Given the description of an element on the screen output the (x, y) to click on. 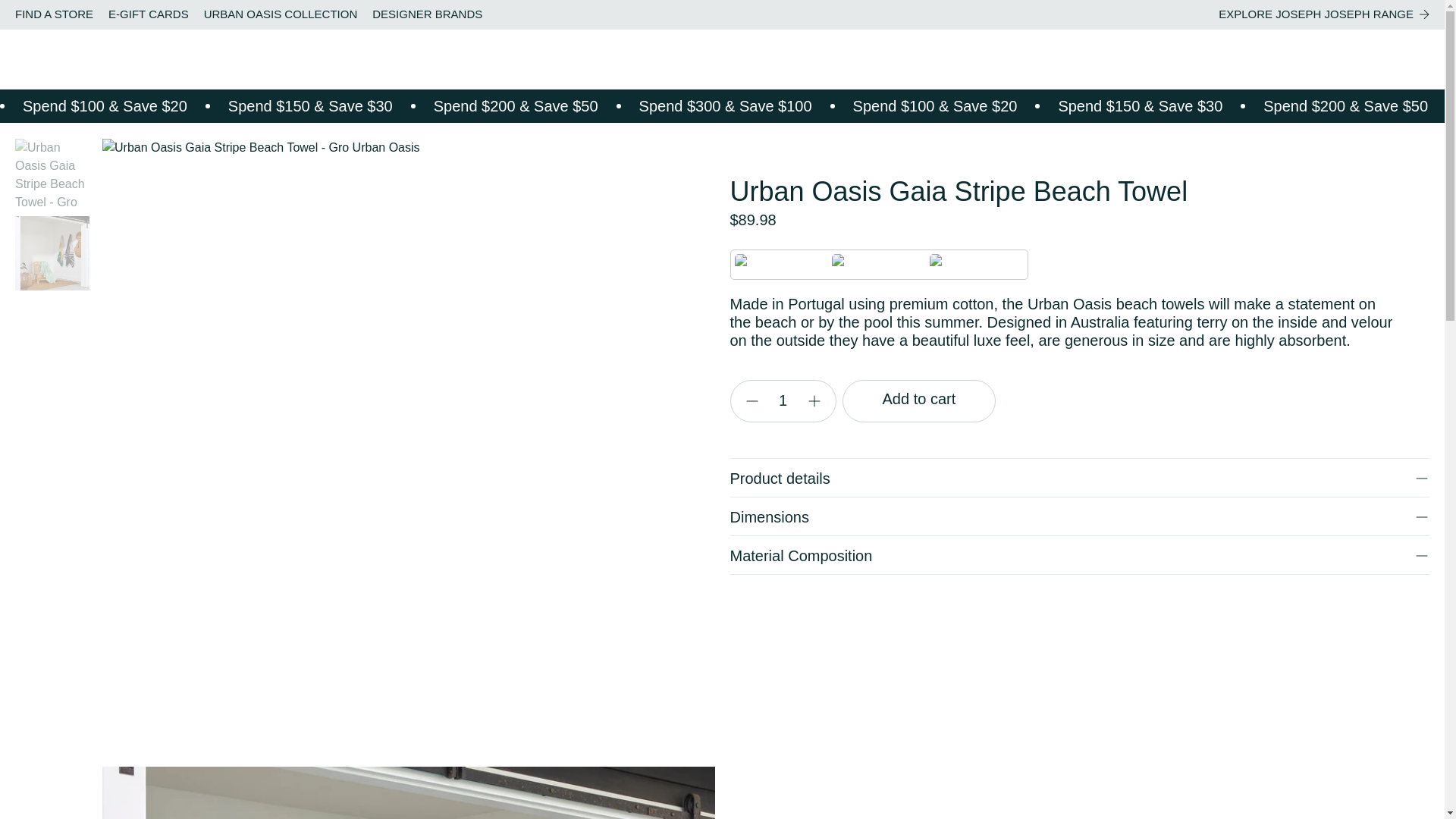
FIND A STORE (53, 14)
E-GIFT CARDS (148, 14)
URBAN OASIS COLLECTION (280, 14)
DESIGNER BRANDS (426, 14)
EXPLORE JOSEPH JOSEPH RANGE (1323, 14)
